Given the description of an element on the screen output the (x, y) to click on. 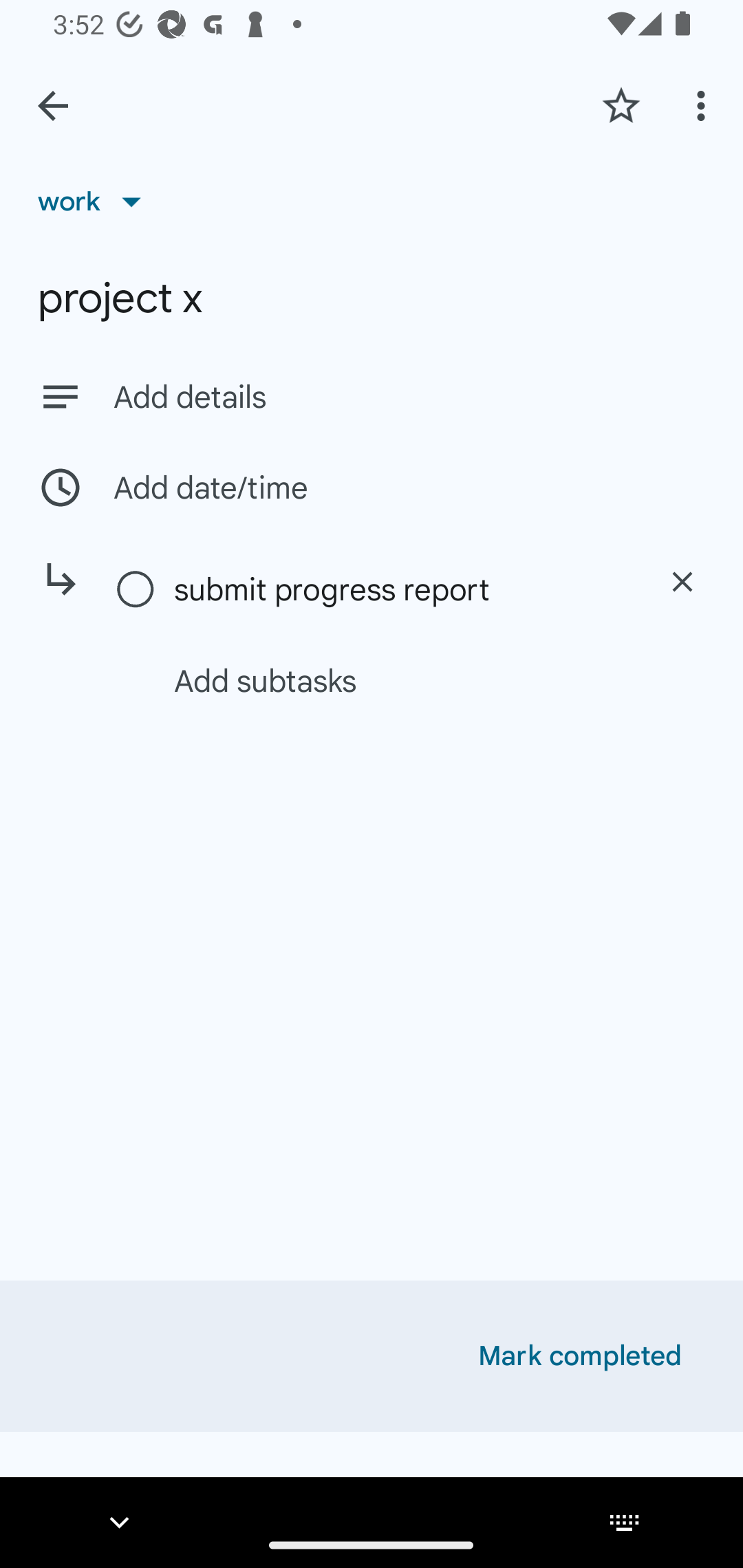
Back (53, 105)
Add star (620, 105)
More options (704, 105)
work List, work selected, 1 of 11 (95, 201)
project x (371, 298)
Add details (371, 396)
Add details (409, 397)
Add date/time (371, 487)
submit progress report (401, 589)
Delete subtask (682, 581)
Mark as complete (136, 590)
Add subtasks (394, 680)
Mark completed (580, 1355)
